Given the description of an element on the screen output the (x, y) to click on. 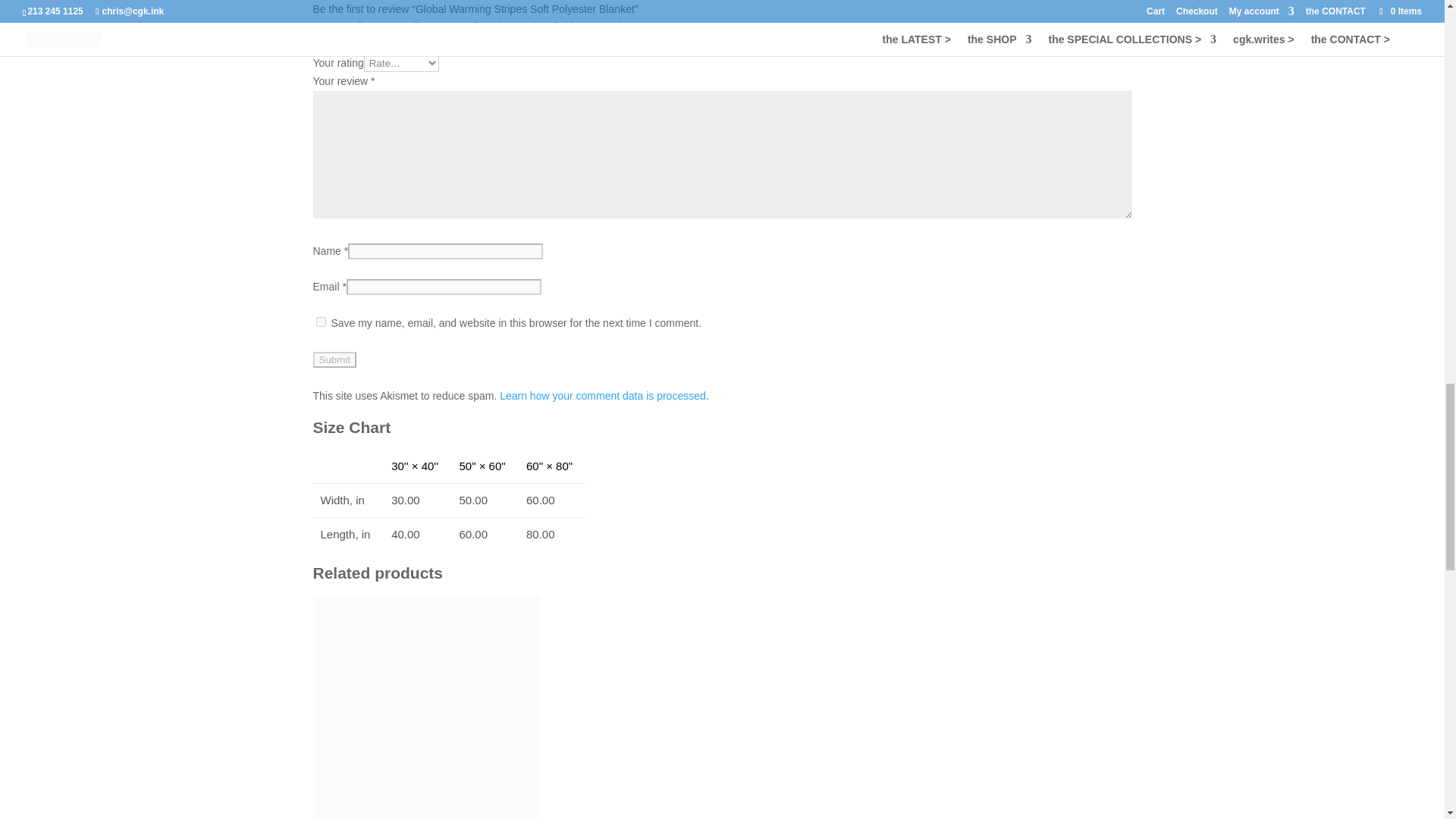
yes (319, 321)
Submit (334, 359)
